Given the description of an element on the screen output the (x, y) to click on. 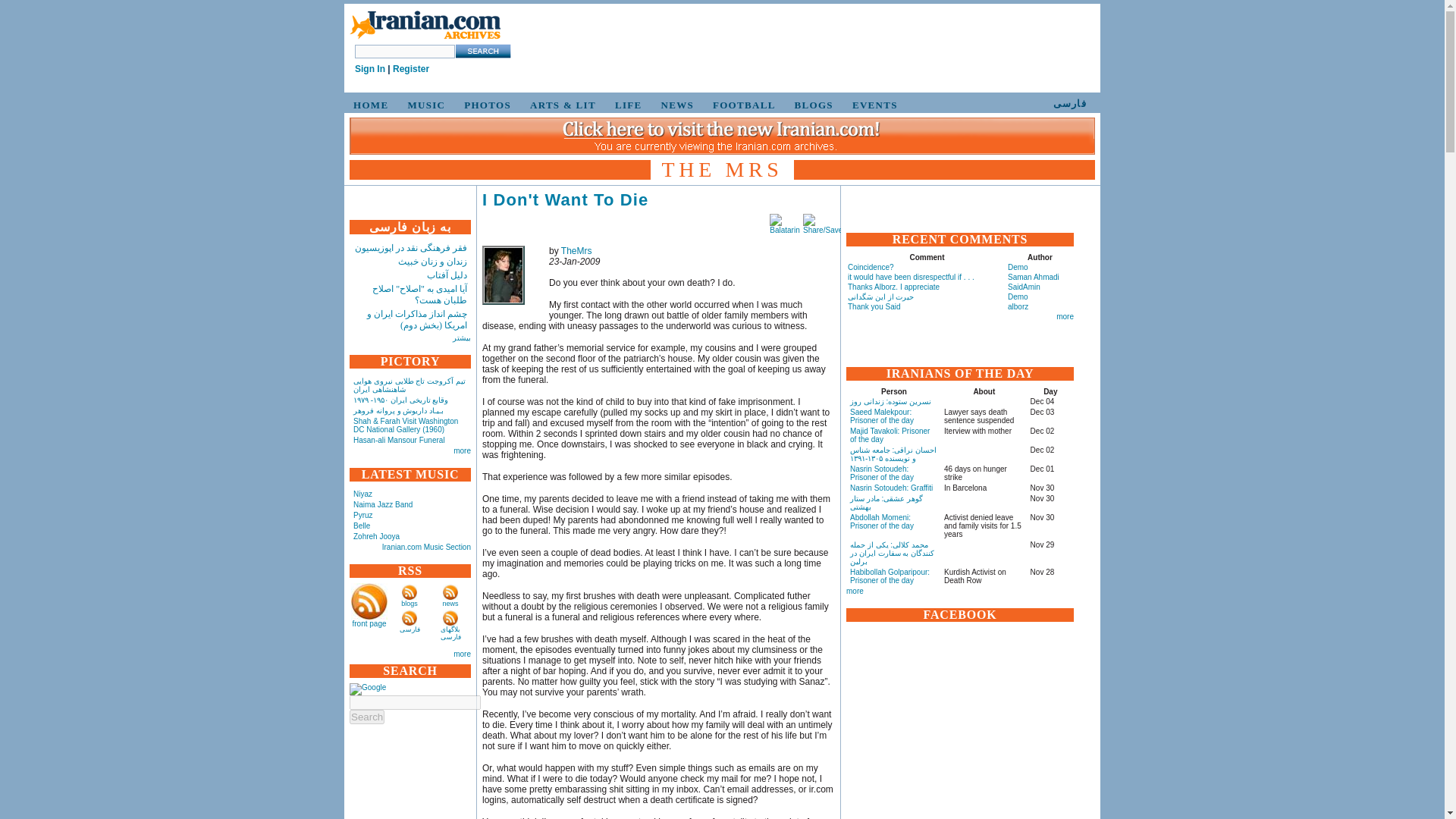
Home (424, 40)
Home (424, 25)
Zohreh Jooya (375, 536)
EVENTS (872, 105)
FOOTBALL (741, 105)
Sign In (370, 68)
BLOGS (812, 105)
Niyaz (362, 493)
PHOTOS (484, 105)
news (450, 603)
